Given the description of an element on the screen output the (x, y) to click on. 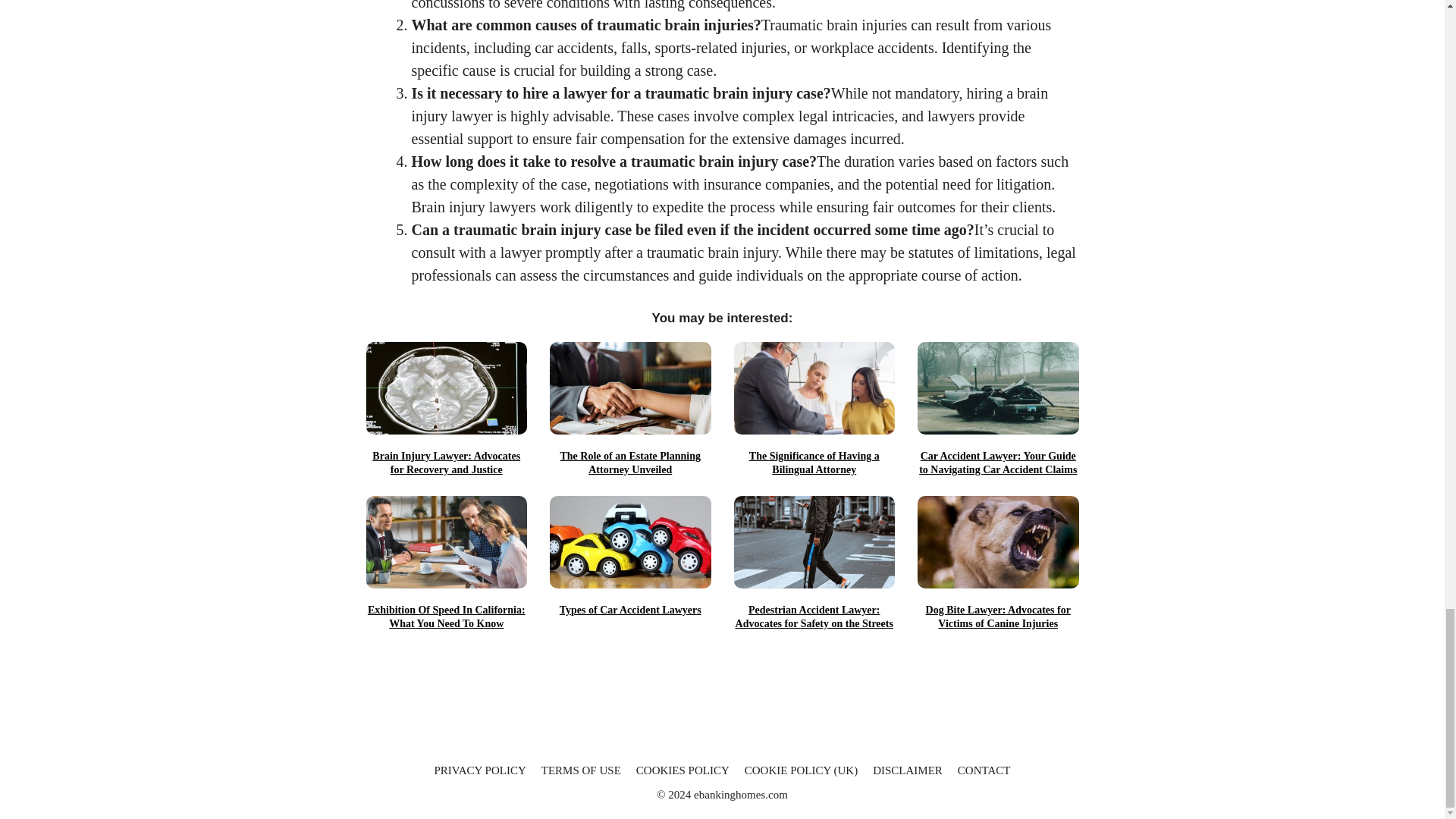
Dog Bite Lawyer: Advocates for Victims of Canine Injuries (997, 616)
The Significance of Having a Bilingual Attorney (814, 462)
DISCLAIMER (907, 770)
TERMS OF USE (581, 770)
COOKIES POLICY (682, 770)
The Role of an Estate Planning Attorney Unveiled (630, 462)
Types of Car Accident Lawyers (630, 610)
CONTACT (984, 770)
PRIVACY POLICY (479, 770)
Brain Injury Lawyer: Advocates for Recovery and Justice (446, 462)
Exhibition Of Speed In California: What You Need To Know (446, 616)
